Given the description of an element on the screen output the (x, y) to click on. 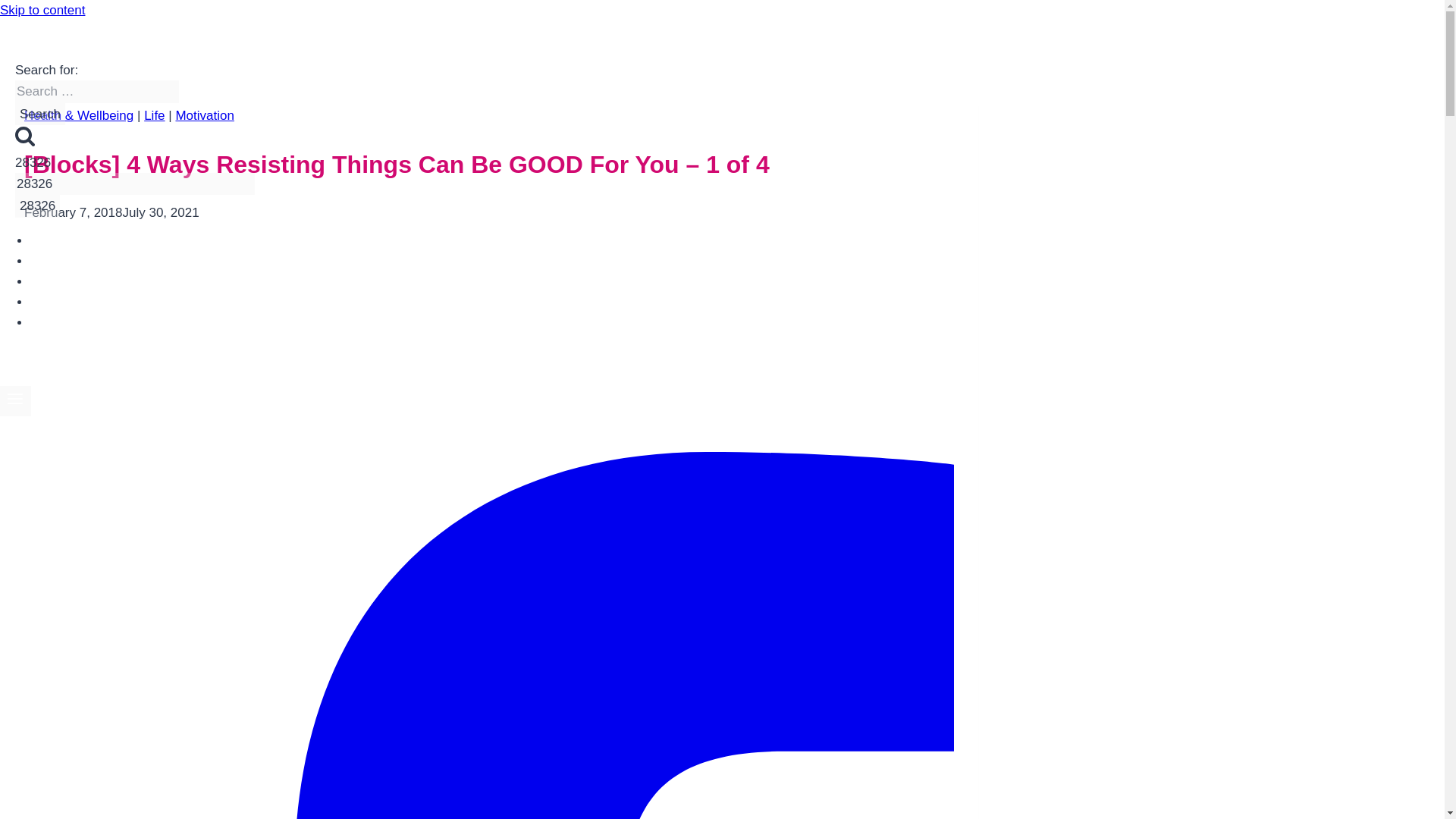
About (55, 281)
Begin Here (70, 261)
Skip to content (42, 10)
Search (24, 135)
Home (55, 239)
Search (39, 114)
Motivation (203, 115)
Toggle Menu (15, 400)
ASR Blog (65, 322)
Toggle Menu (14, 398)
28326 (134, 183)
Skip to content (42, 10)
28326 (36, 205)
Search (39, 114)
28326 (36, 205)
